Given the description of an element on the screen output the (x, y) to click on. 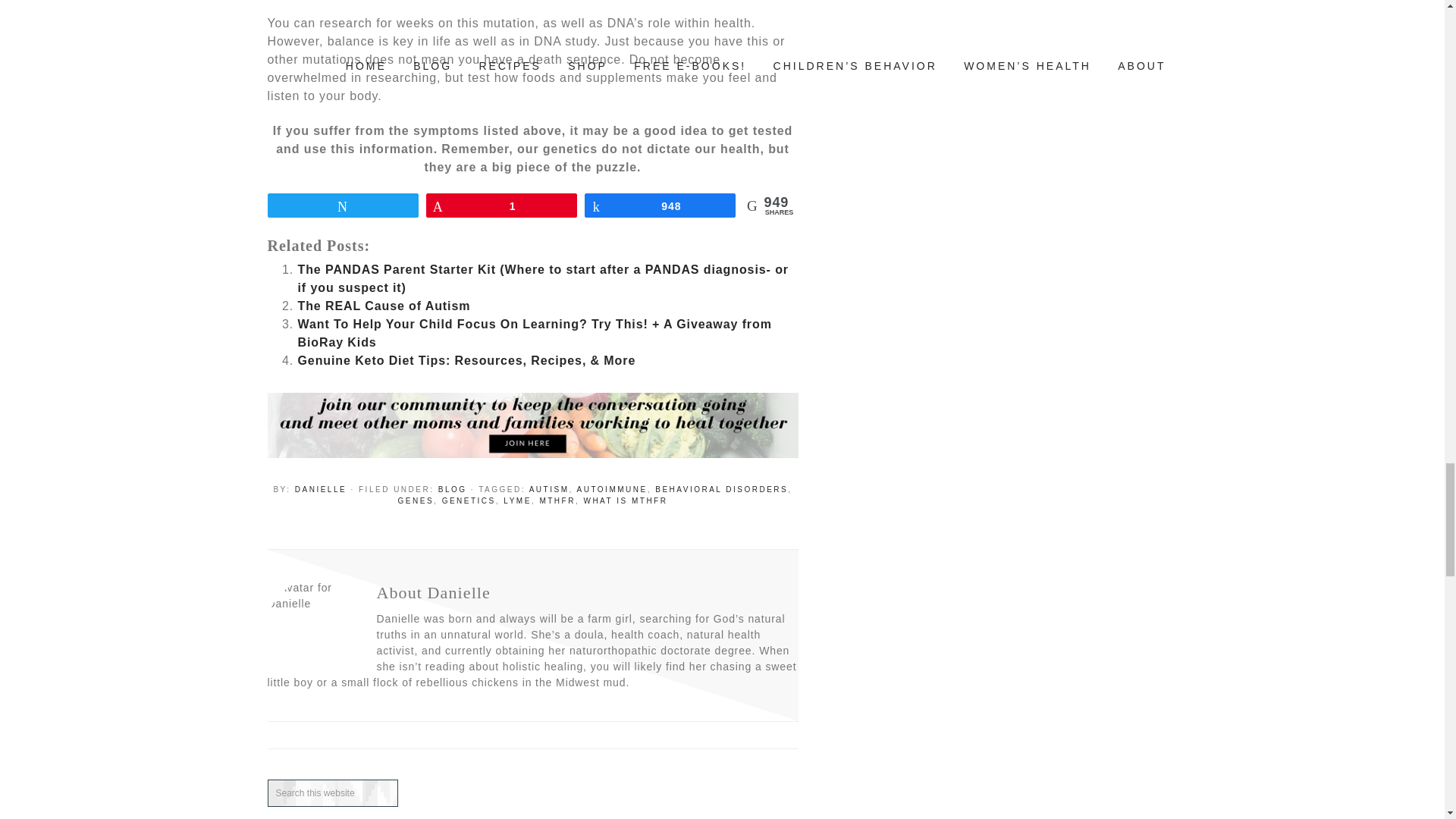
AUTISM (549, 489)
The REAL Cause of Autism (383, 305)
1 (501, 205)
BLOG (452, 489)
DANIELLE (320, 489)
948 (660, 205)
AUTOIMMUNE (611, 489)
Gravatar for Danielle (312, 624)
